Given the description of an element on the screen output the (x, y) to click on. 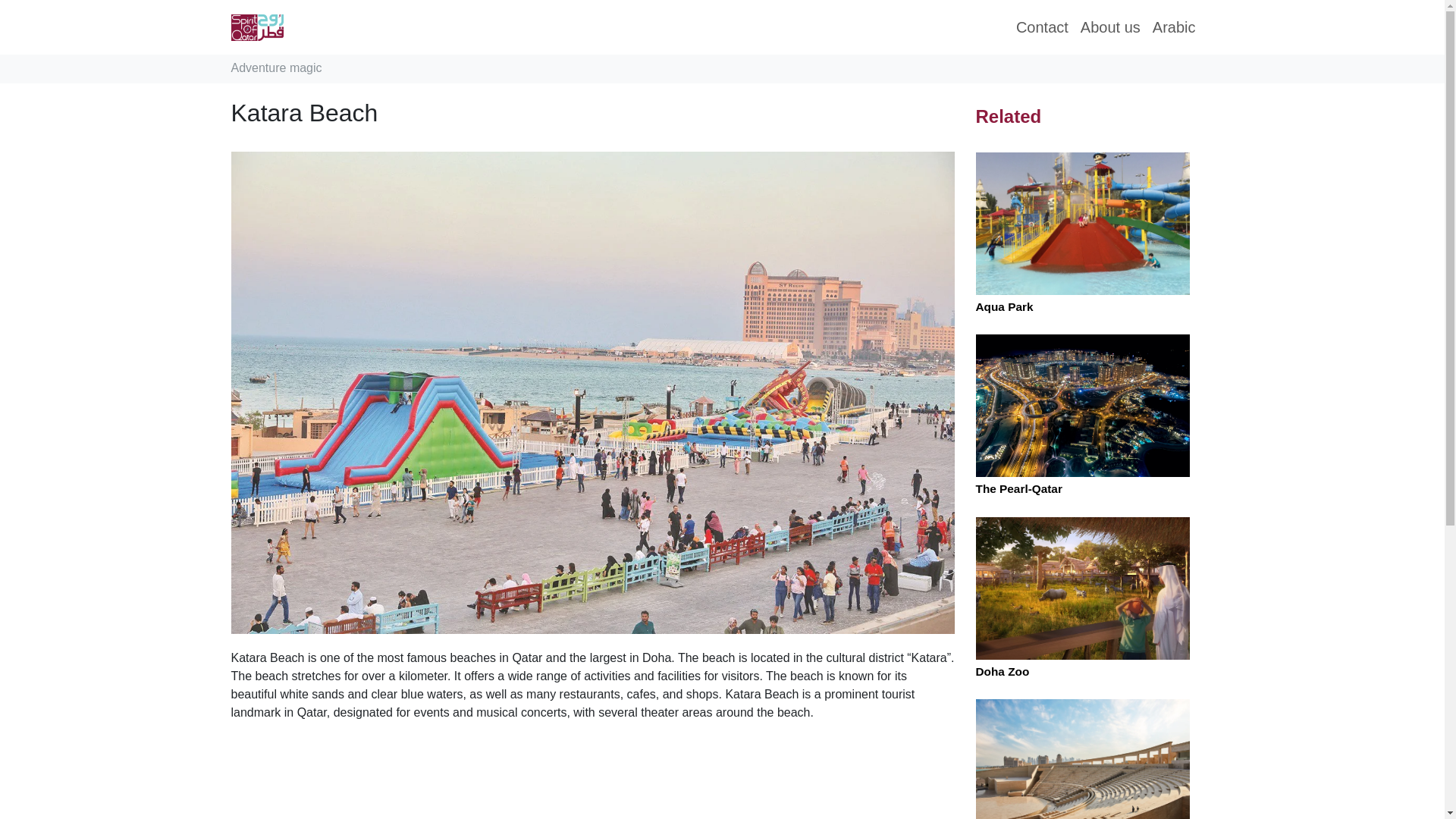
The Pearl-Qatar (1018, 488)
Aqua Park (1003, 306)
Contact (1042, 27)
Arabic (1174, 27)
Adventure magic (275, 67)
About us (1110, 27)
Doha Zoo (1002, 671)
Adventure magic (275, 67)
